Given the description of an element on the screen output the (x, y) to click on. 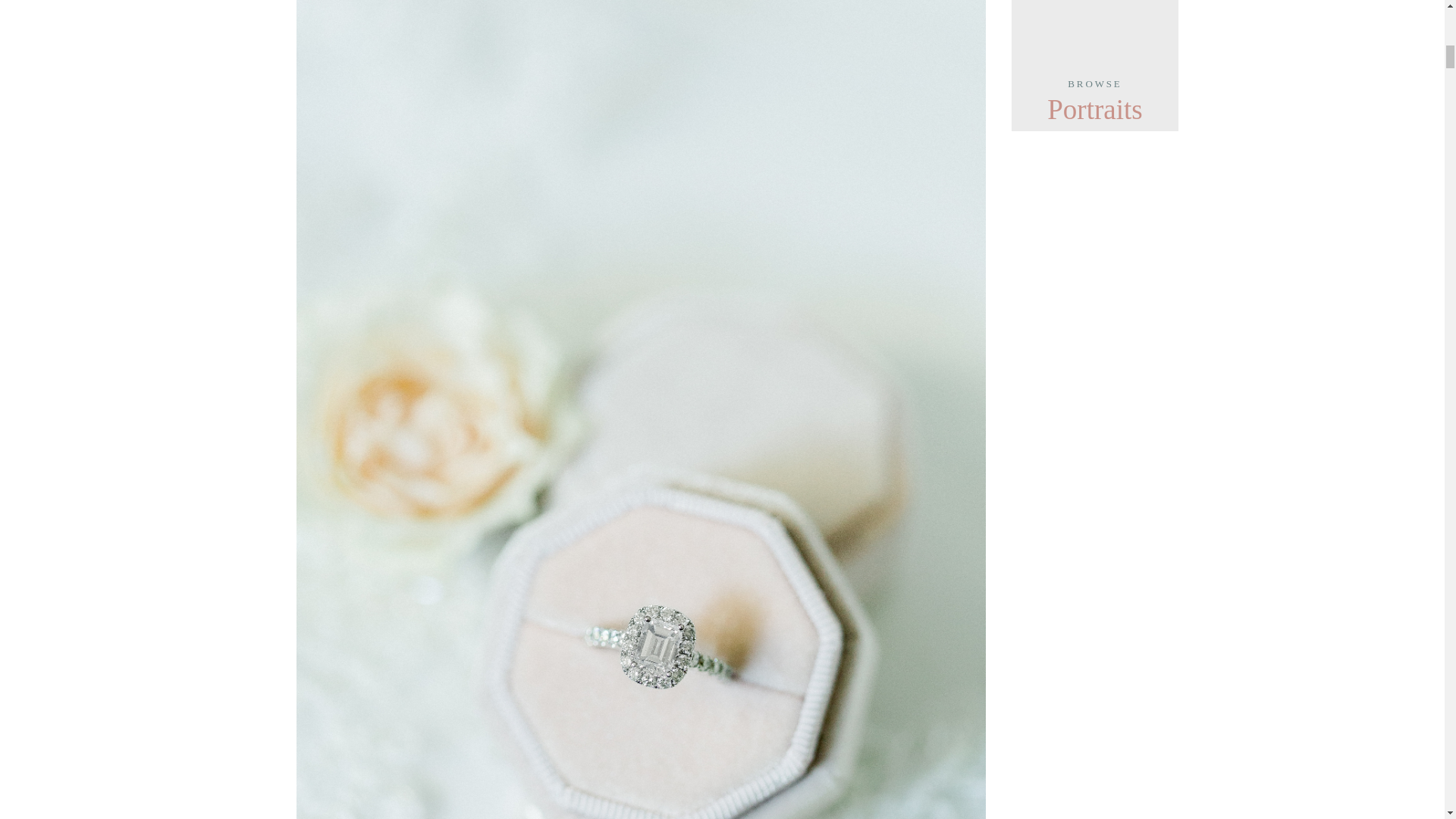
Portraits (1094, 108)
BROWSE (1094, 91)
